Given the description of an element on the screen output the (x, y) to click on. 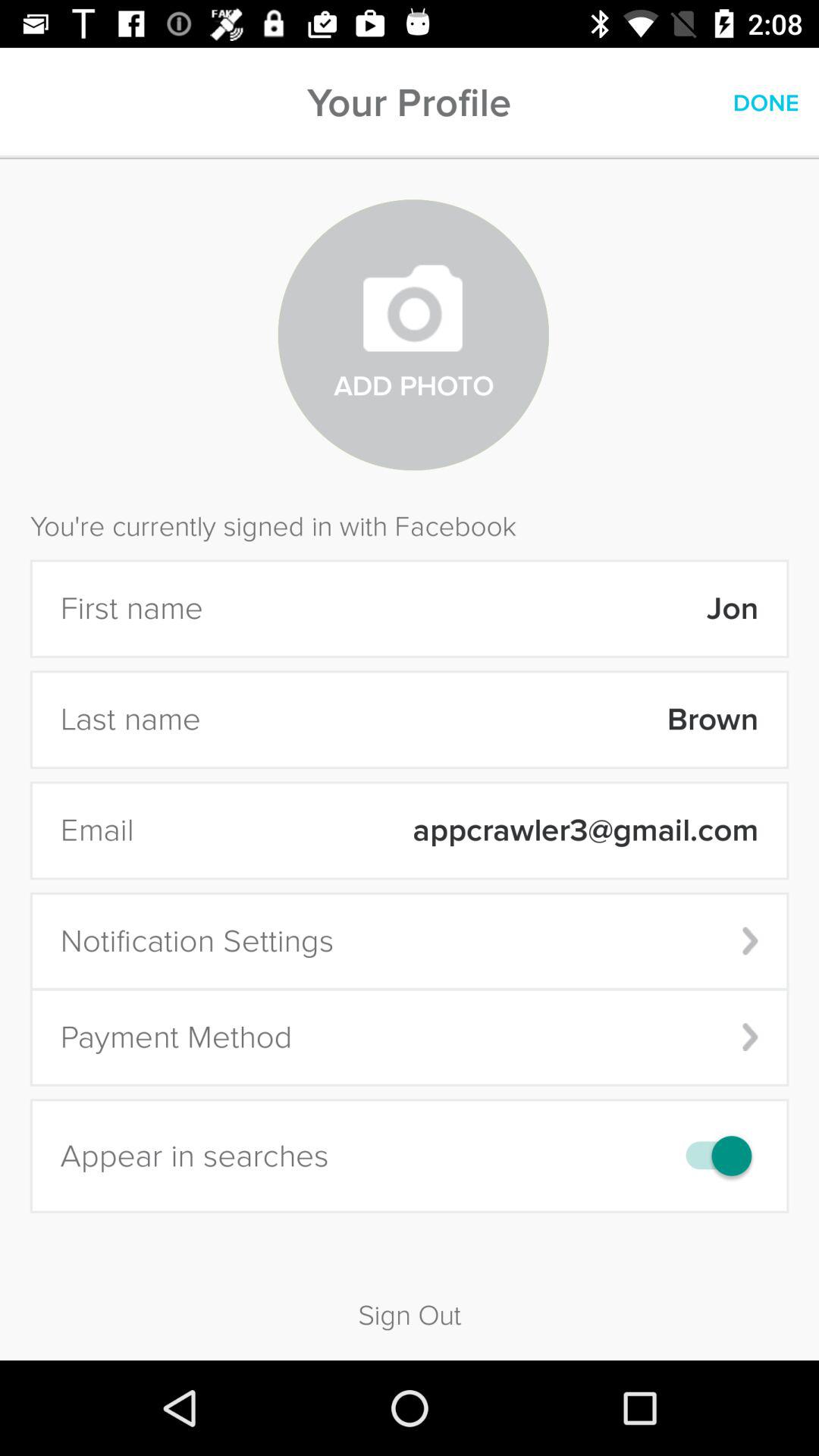
press payment method item (409, 1037)
